Given the description of an element on the screen output the (x, y) to click on. 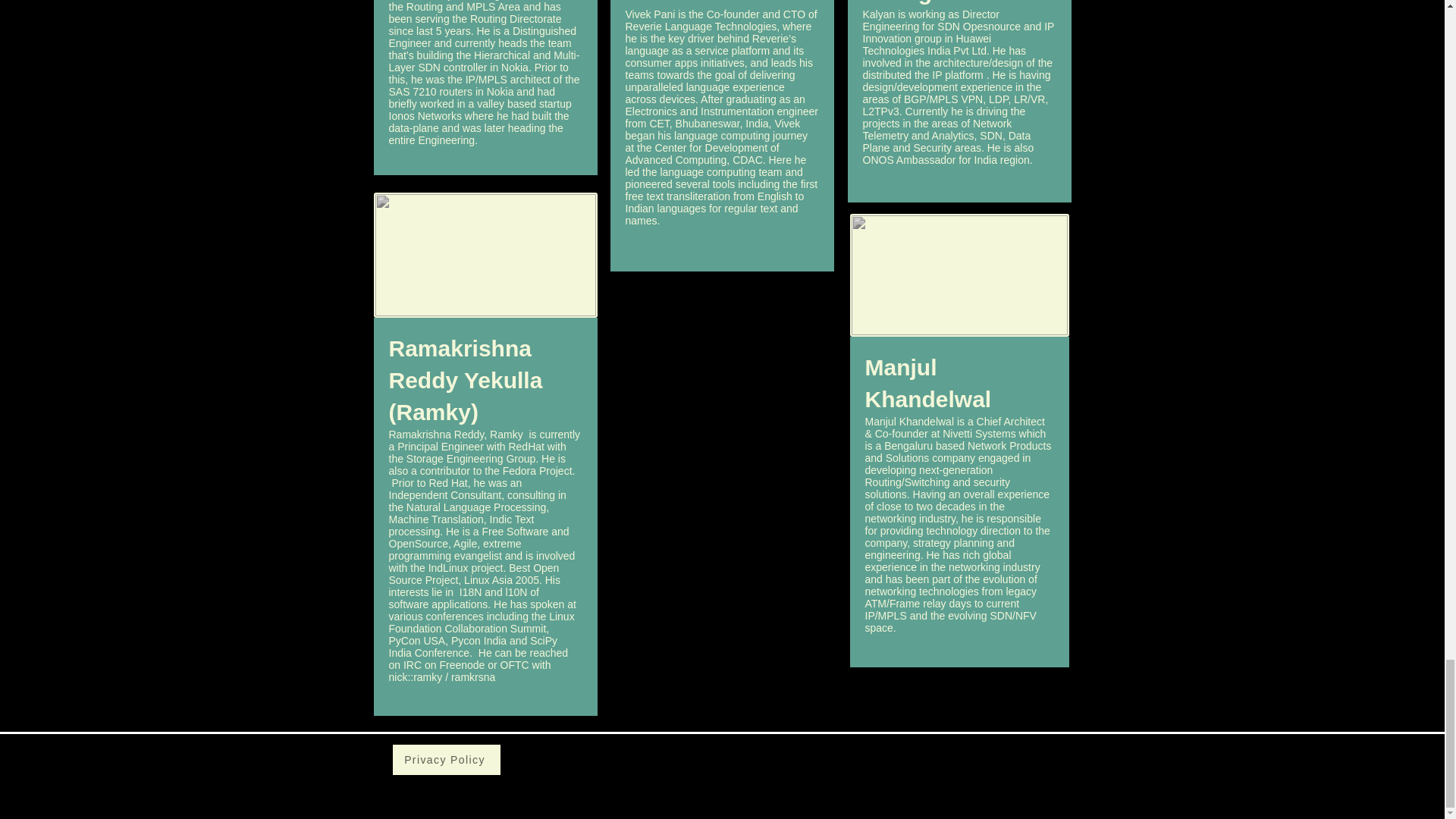
Privacy Policy (446, 759)
